Given the description of an element on the screen output the (x, y) to click on. 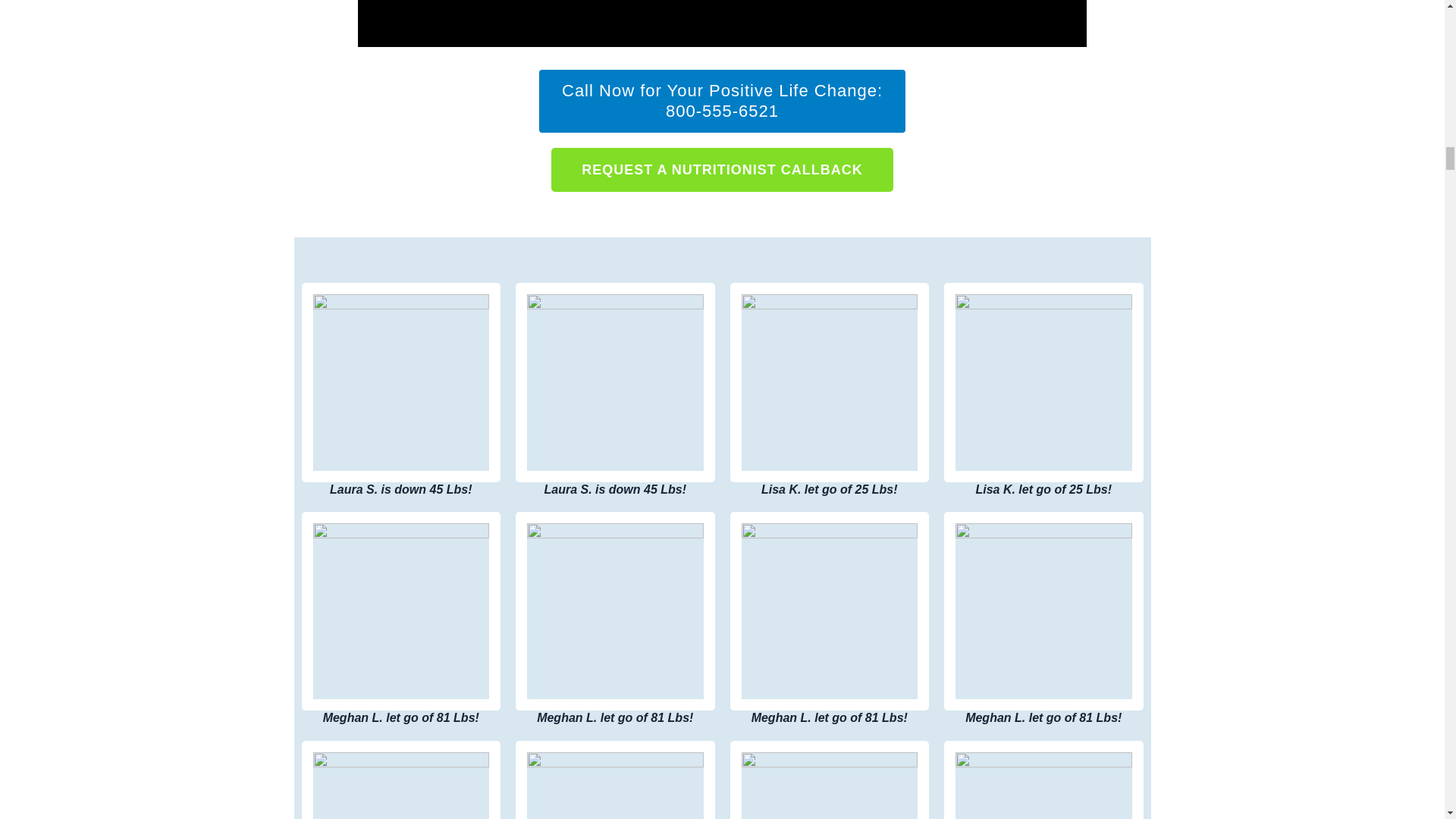
vimeo Video Player (722, 23)
